Given the description of an element on the screen output the (x, y) to click on. 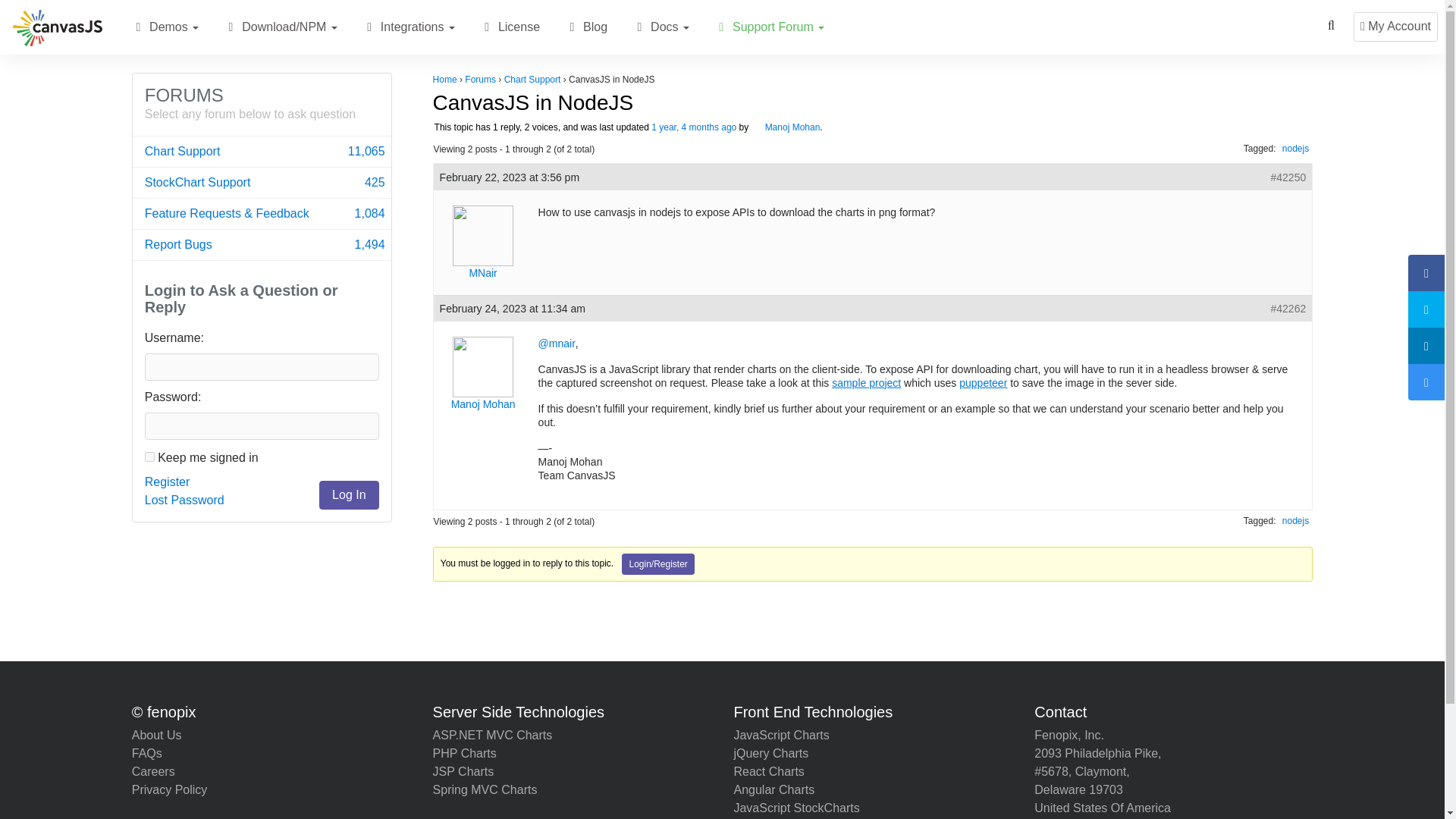
Integrations (261, 151)
forever (261, 245)
StockChart Support (369, 27)
Docs (149, 456)
Lost Password (261, 182)
Chart Demos (660, 27)
Blog (184, 500)
Lost Password (139, 27)
Integrations (571, 27)
Reply To: CanvasJS in NodeJS (184, 500)
Chart Support (408, 27)
CanvasJS (693, 127)
Demos (261, 151)
